Given the description of an element on the screen output the (x, y) to click on. 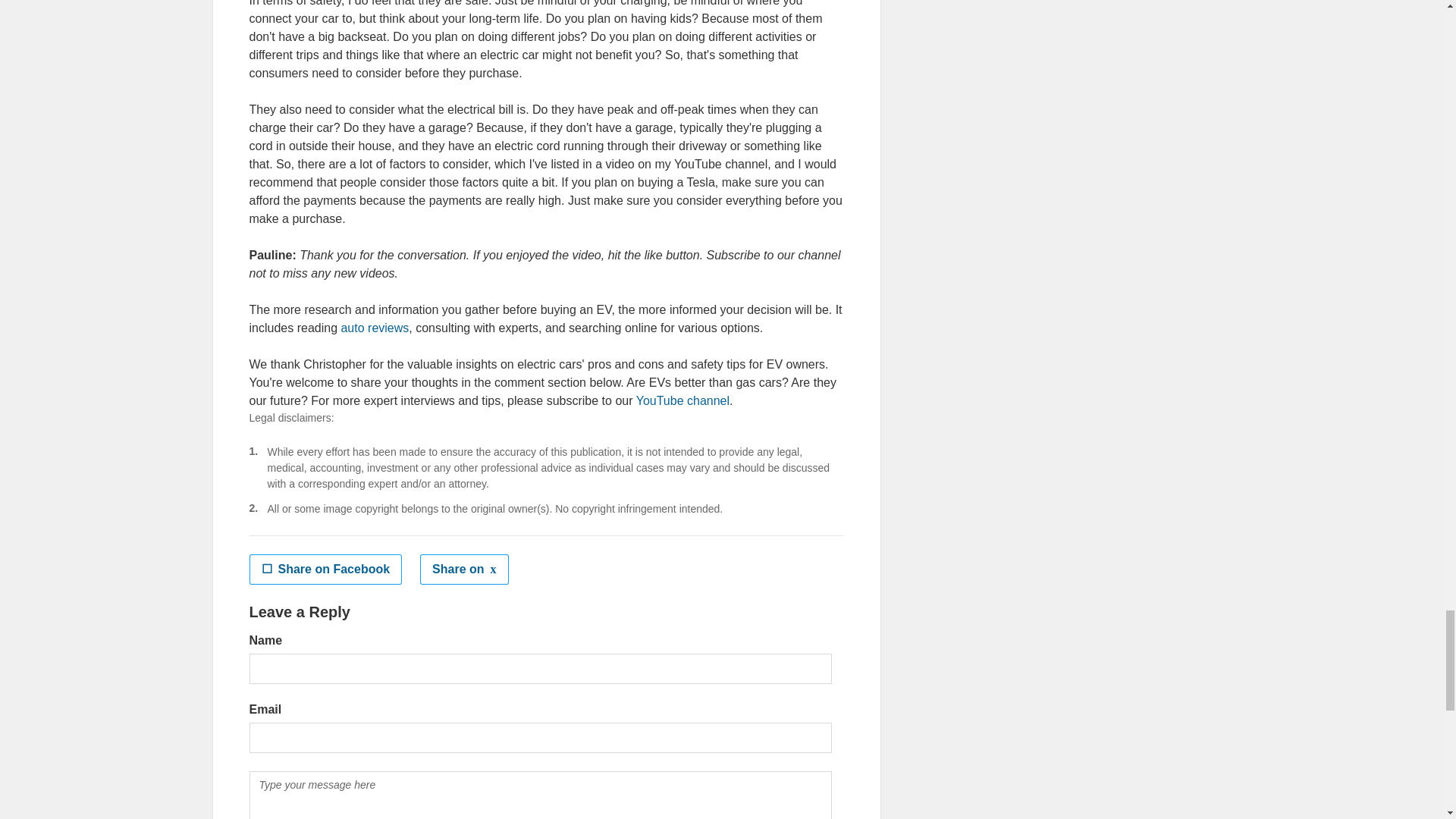
auto reviews (374, 327)
Name must be more than 3 characters and contain 0-9,a-z,A-Z (539, 668)
YouTube channel (682, 400)
